Given the description of an element on the screen output the (x, y) to click on. 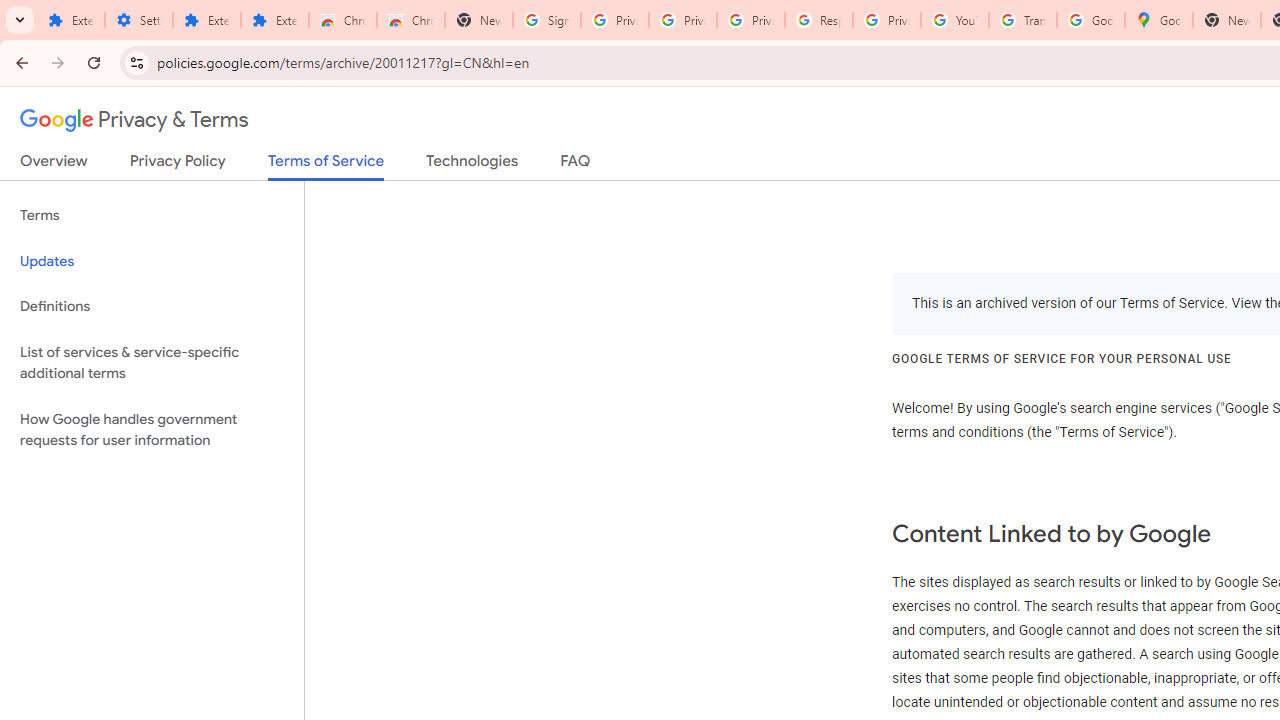
New Tab (1226, 20)
Sign in - Google Accounts (547, 20)
New Tab (479, 20)
